Given the description of an element on the screen output the (x, y) to click on. 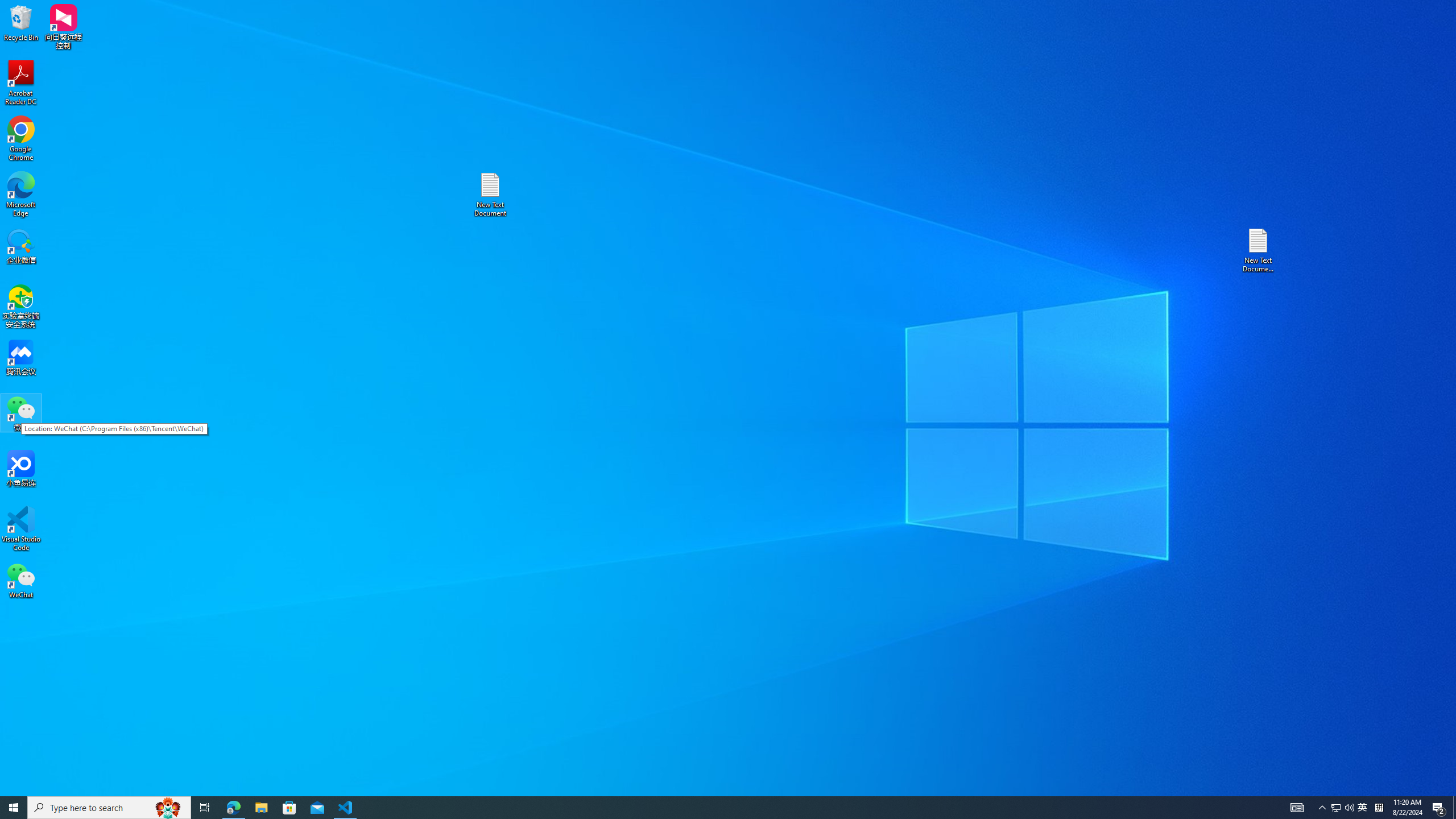
New Text Document (489, 194)
Microsoft Edge - 1 running window (233, 807)
Search highlights icon opens search home window (167, 807)
AutomationID: 4105 (1297, 807)
